Given the description of an element on the screen output the (x, y) to click on. 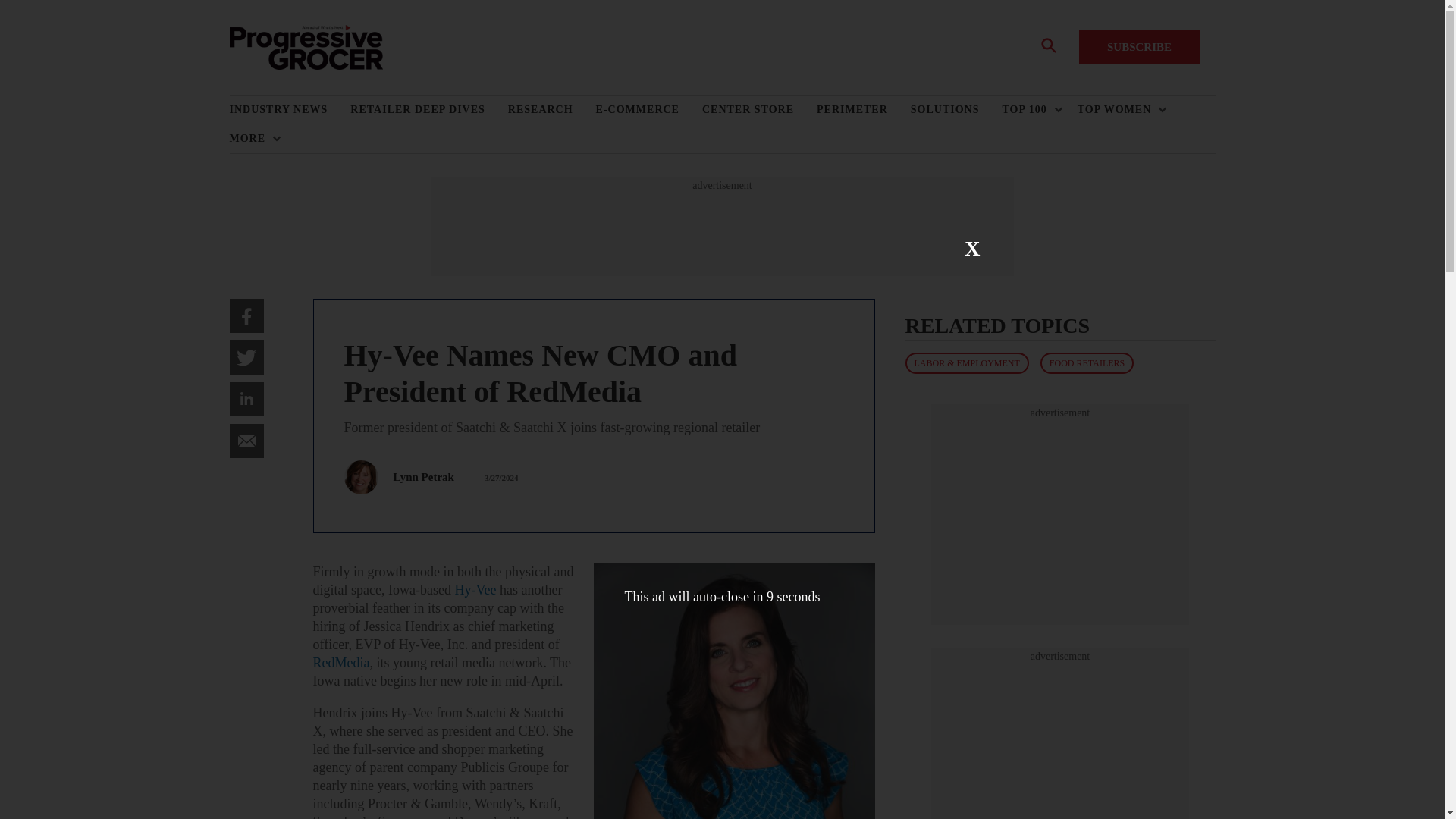
INDUSTRY NEWS (289, 109)
E-COMMERCE (648, 109)
twitter (245, 357)
PERIMETER (863, 109)
3rd party ad content (1059, 514)
3rd party ad content (1059, 741)
SUBSCRIBE (1138, 47)
SOLUTIONS (957, 109)
3rd party ad content (721, 226)
TOP 100 (1028, 109)
